Given the description of an element on the screen output the (x, y) to click on. 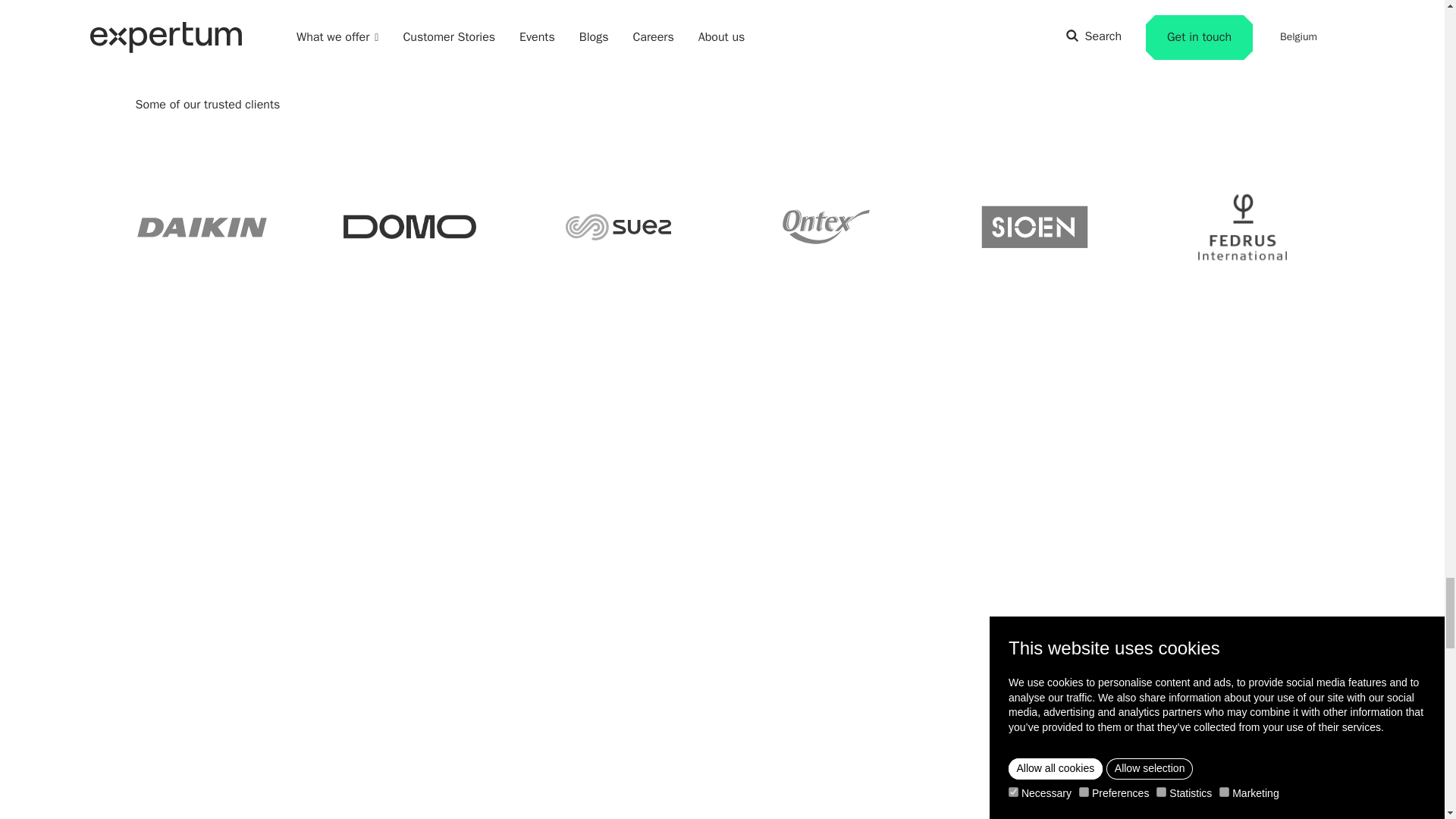
Daikin word (201, 226)
Ontex Logo Boxed (826, 226)
Suez Logo Boxed (617, 226)
Sioen Logo Boxed (1034, 226)
Fedrus Logo Boxed (1242, 226)
Download (409, 226)
